Given the description of an element on the screen output the (x, y) to click on. 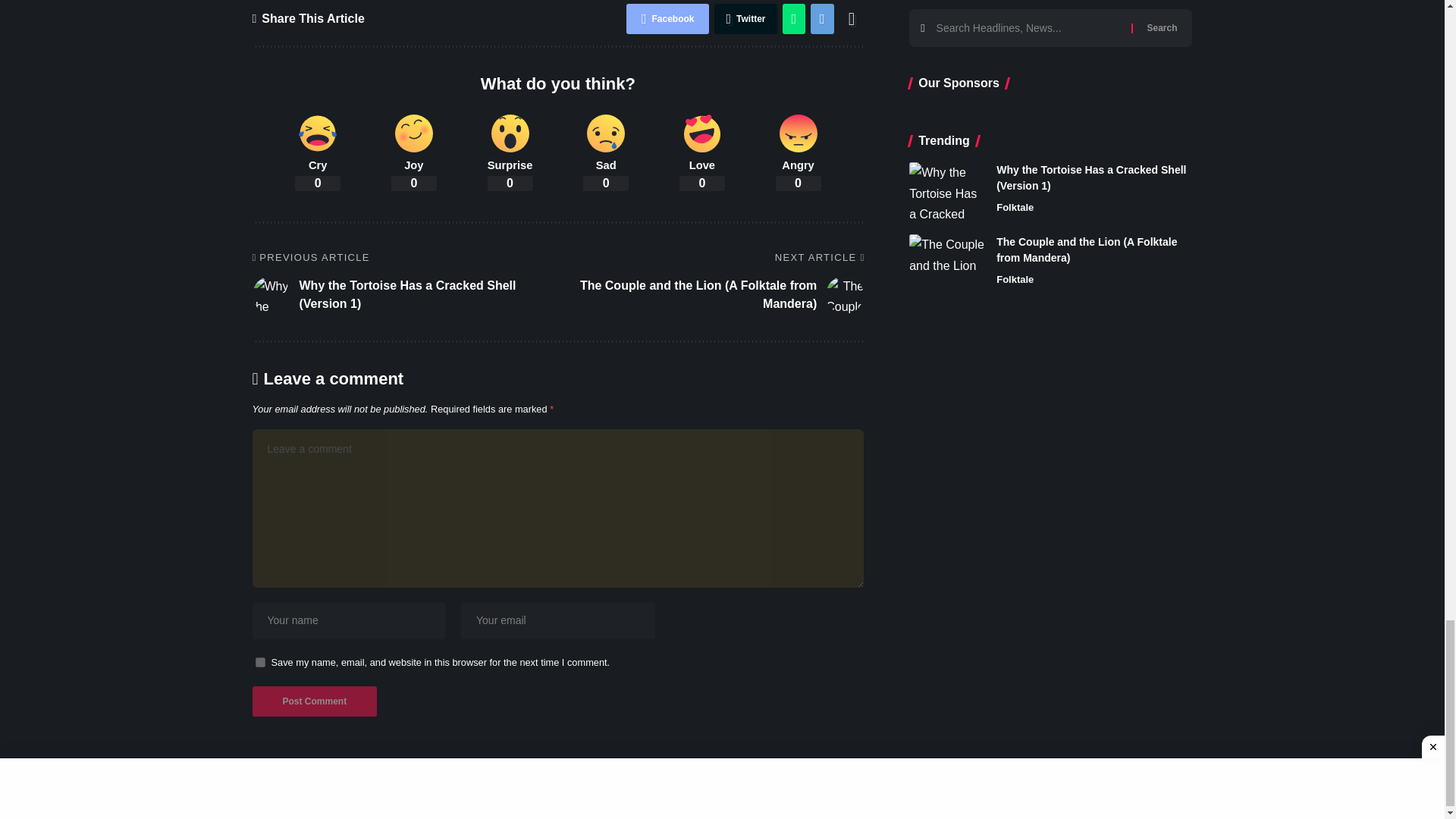
Post Comment (314, 701)
Facebook (668, 19)
yes (259, 662)
Twitter (745, 19)
